Given the description of an element on the screen output the (x, y) to click on. 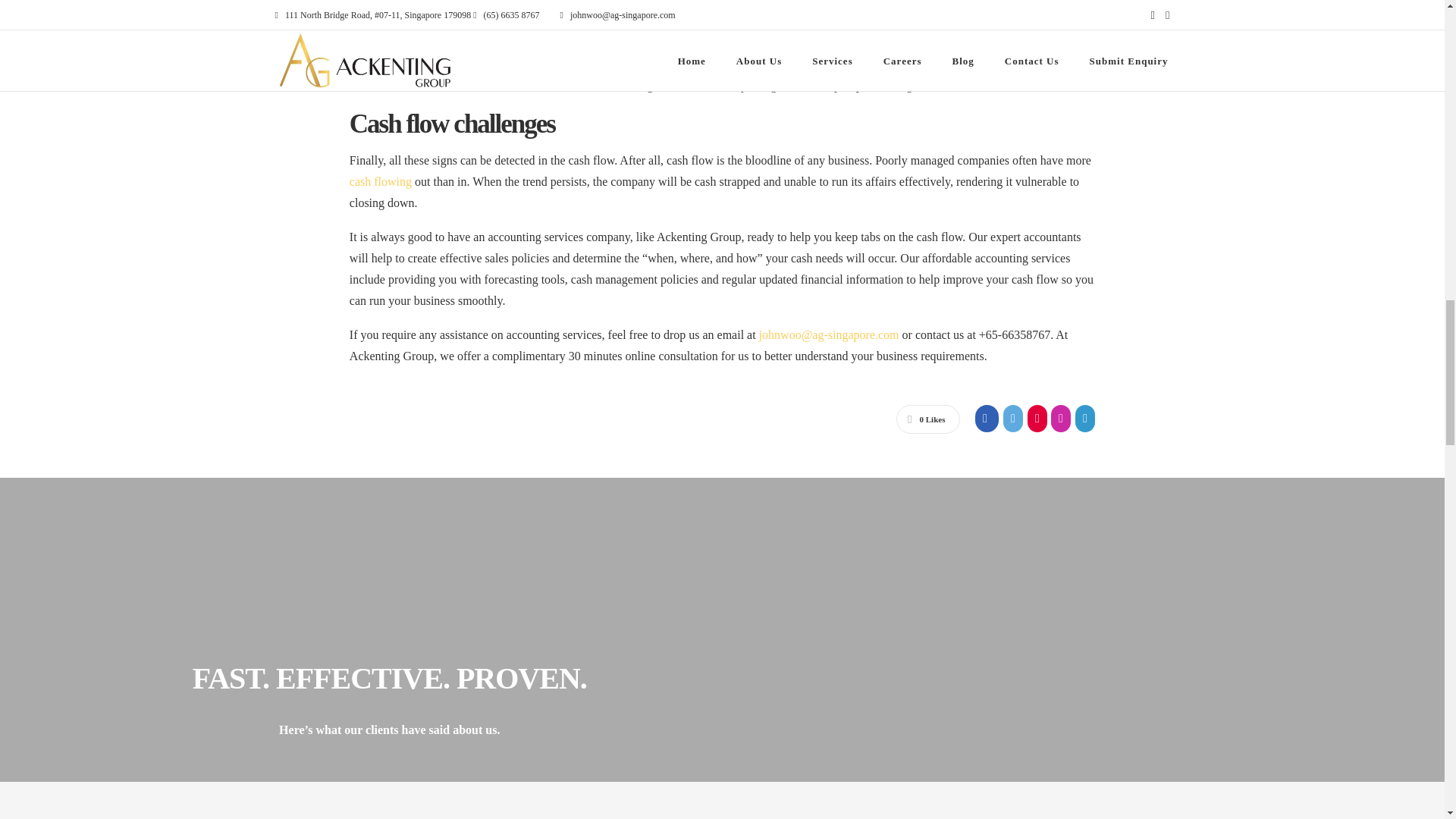
Where To Focus Your Resources After Fixing Your Cash Flow (380, 181)
cash flowing (380, 181)
